Given the description of an element on the screen output the (x, y) to click on. 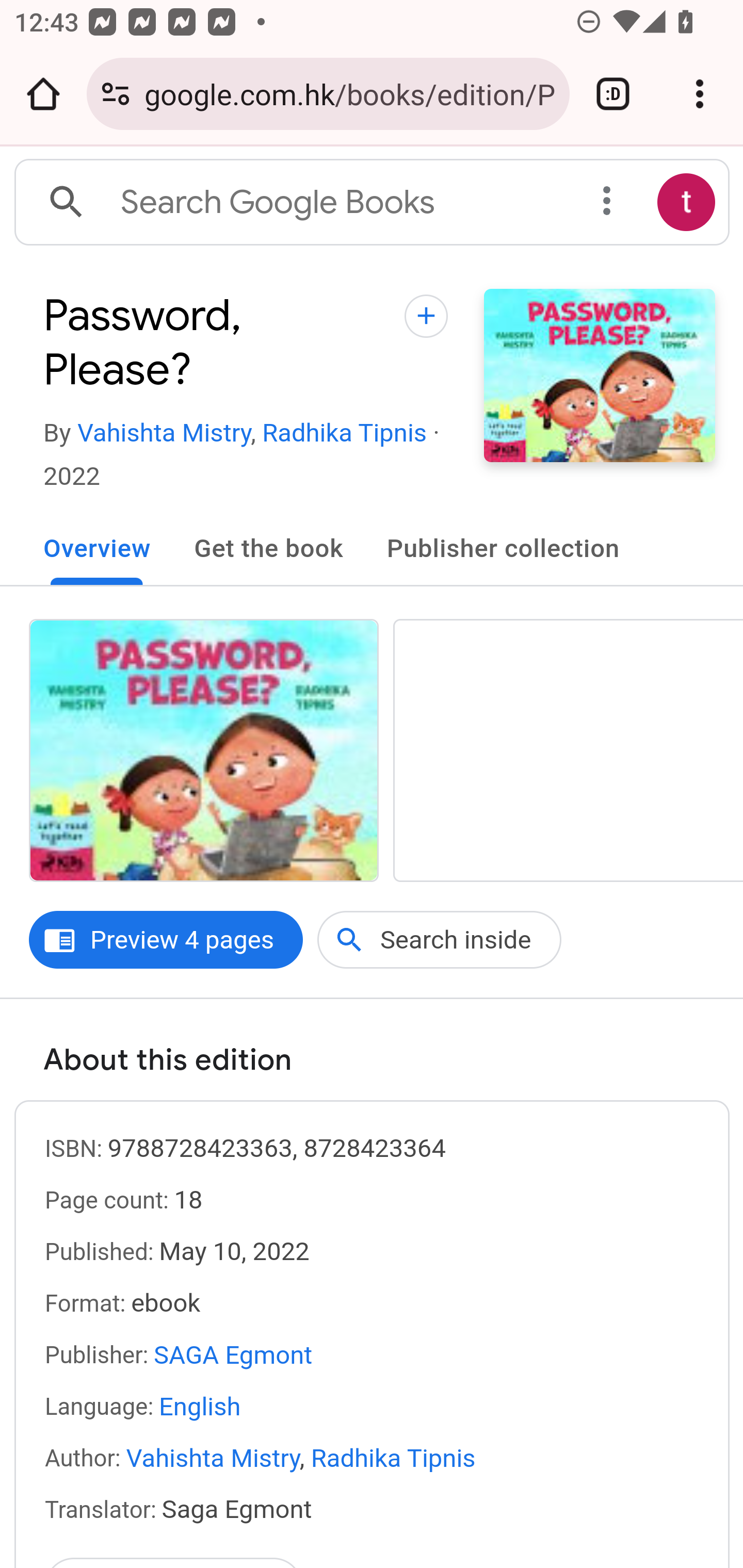
Open the home page (43, 93)
Connection is secure (115, 93)
Switch or close tabs (612, 93)
Customize and control Google Chrome (699, 93)
Settings (607, 202)
Add to my library (425, 331)
Vahishta Mistry (163, 433)
Radhika Tipnis (344, 433)
Overview (97, 542)
Get the book (268, 542)
Publisher collection (503, 542)
